Given the description of an element on the screen output the (x, y) to click on. 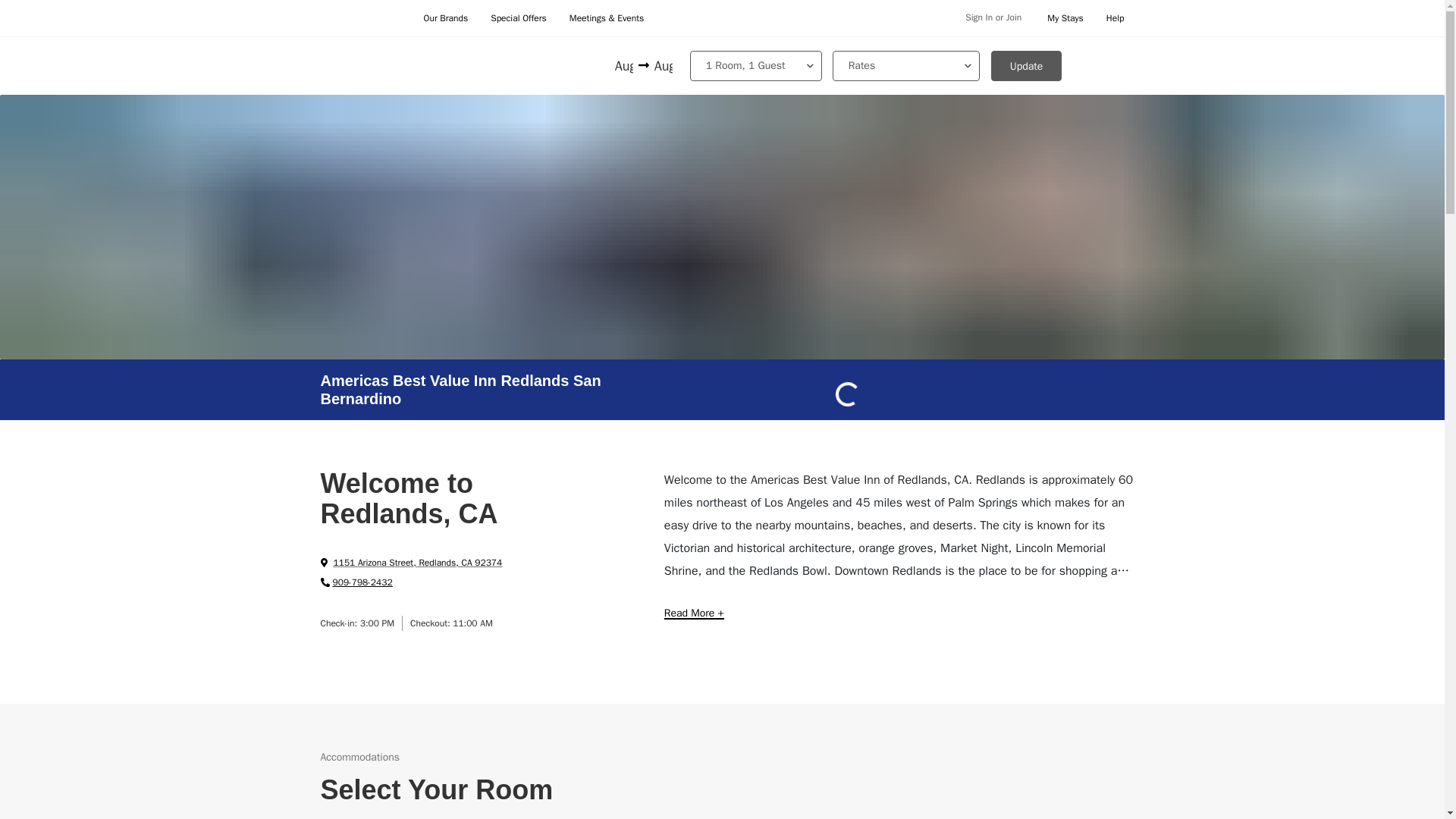
Rates (905, 65)
Special Offers (518, 18)
Aug 02 (625, 66)
1151 Arizona Street, Redlands, CA 92374 (411, 562)
Update (1026, 65)
Sign In or Join (993, 18)
Our Brands (445, 18)
Aug 03 (661, 66)
1 Room, 1 Guest (756, 65)
My Stays (1064, 18)
909-798-2432 (355, 582)
Help (1115, 18)
